Given the description of an element on the screen output the (x, y) to click on. 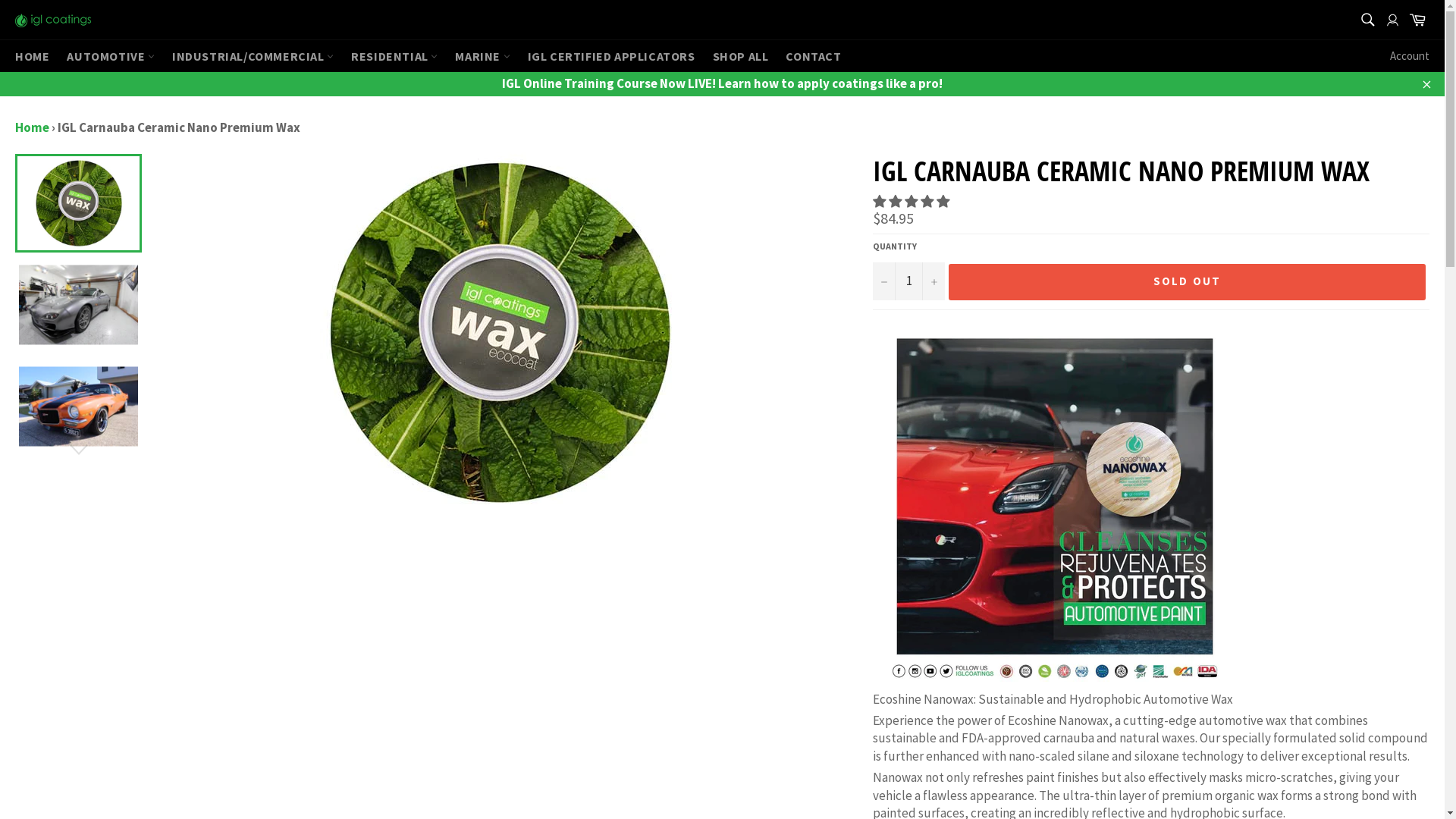
IGL CERTIFIED APPLICATORS Element type: text (611, 56)
RESIDENTIAL Element type: text (394, 56)
HOME Element type: text (31, 56)
+ Element type: text (933, 280)
Home Element type: text (32, 127)
Cart Element type: text (1417, 19)
MARINE Element type: text (482, 56)
Account Element type: text (1392, 18)
AUTOMOTIVE Element type: text (110, 56)
SOLD OUT Element type: text (1186, 281)
CONTACT Element type: text (813, 56)
INDUSTRIAL/COMMERCIAL Element type: text (252, 56)
SHOP ALL Element type: text (740, 56)
Close Element type: text (1425, 83)
Account Element type: text (1409, 56)
Search Element type: text (1366, 19)
